Given the description of an element on the screen output the (x, y) to click on. 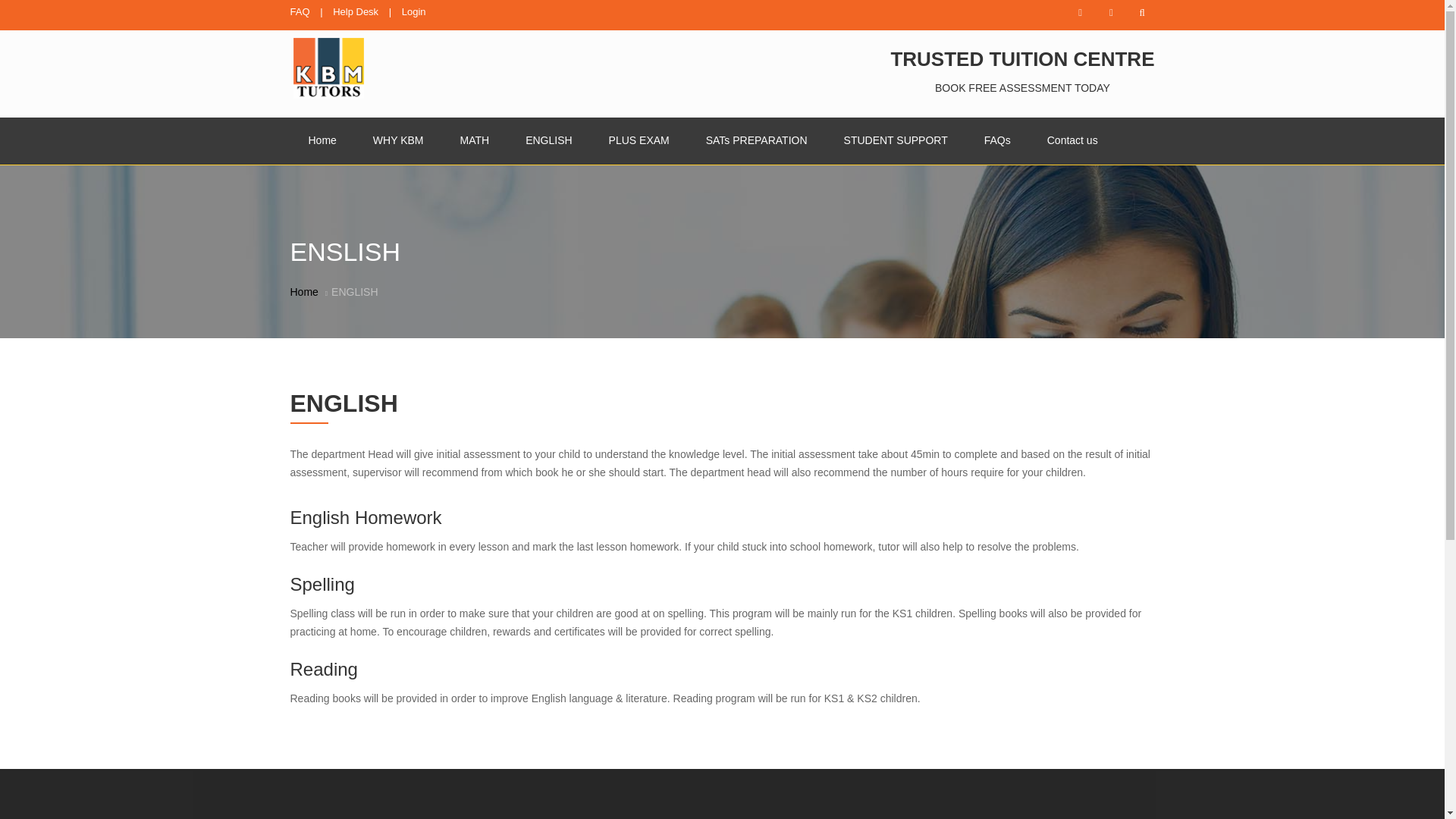
SATs PREPARATION (756, 140)
BOOK FREE ASSESSMENT TODAY (1021, 87)
Login (413, 11)
FAQ (298, 11)
Home (303, 291)
FAQs (997, 140)
Home (321, 140)
WHY KBM (398, 140)
